Given the description of an element on the screen output the (x, y) to click on. 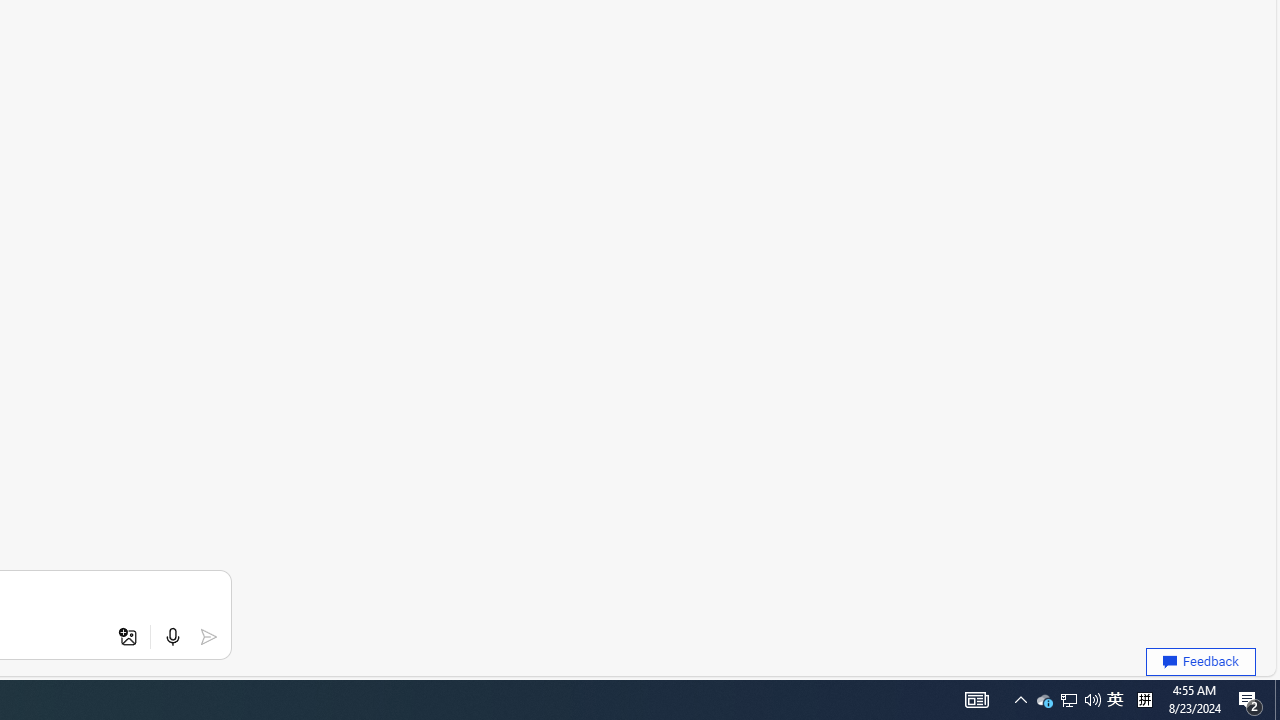
Use microphone (172, 637)
Add an image to search (127, 637)
Submit (208, 637)
